Given the description of an element on the screen output the (x, y) to click on. 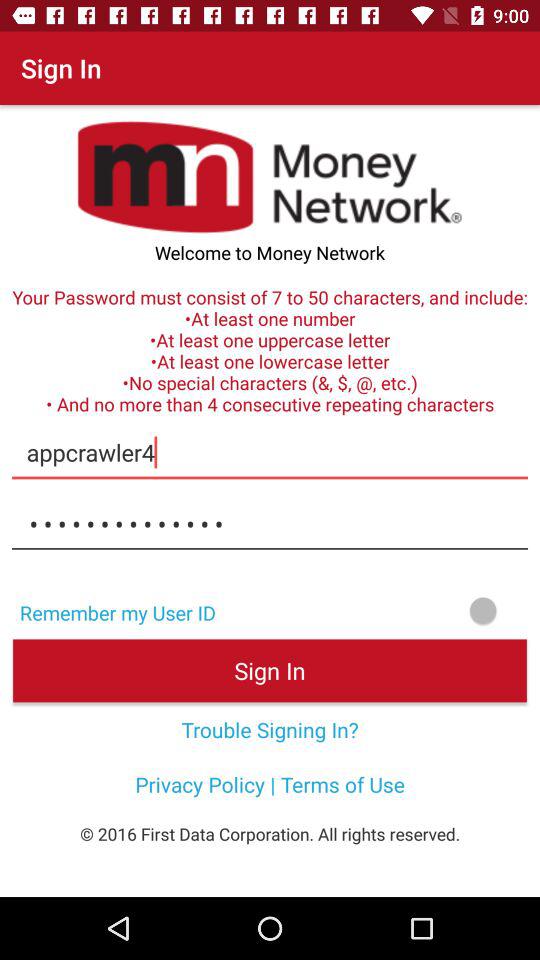
toggle to remember my user id (384, 610)
